Given the description of an element on the screen output the (x, y) to click on. 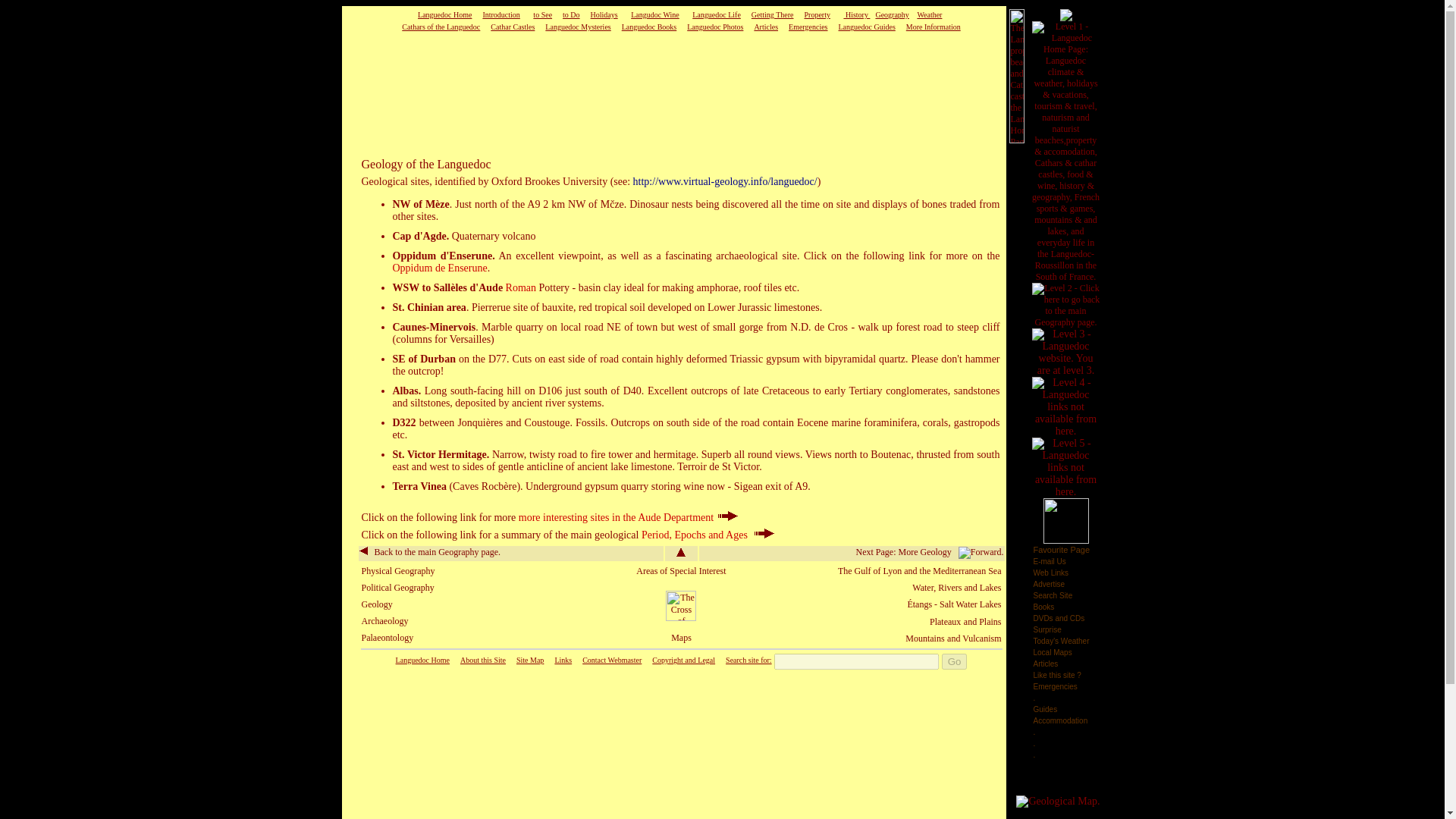
More Information (932, 26)
Roman (520, 287)
 History  (856, 14)
more interesting sites in the Aude Department  (628, 517)
   Back to the main Geography page. (429, 552)
Geology (376, 603)
The Gulf of Lyon and the Mediterranean Sea (919, 570)
Languedoc Photos: Click here for photos of the Languedoc (714, 26)
Articles about the Languedoc and Life in the South of France (765, 26)
Introduction (500, 14)
Languedoc Mysteries (577, 26)
Rivers (950, 587)
Geography (891, 14)
Physical Geography (397, 570)
